Given the description of an element on the screen output the (x, y) to click on. 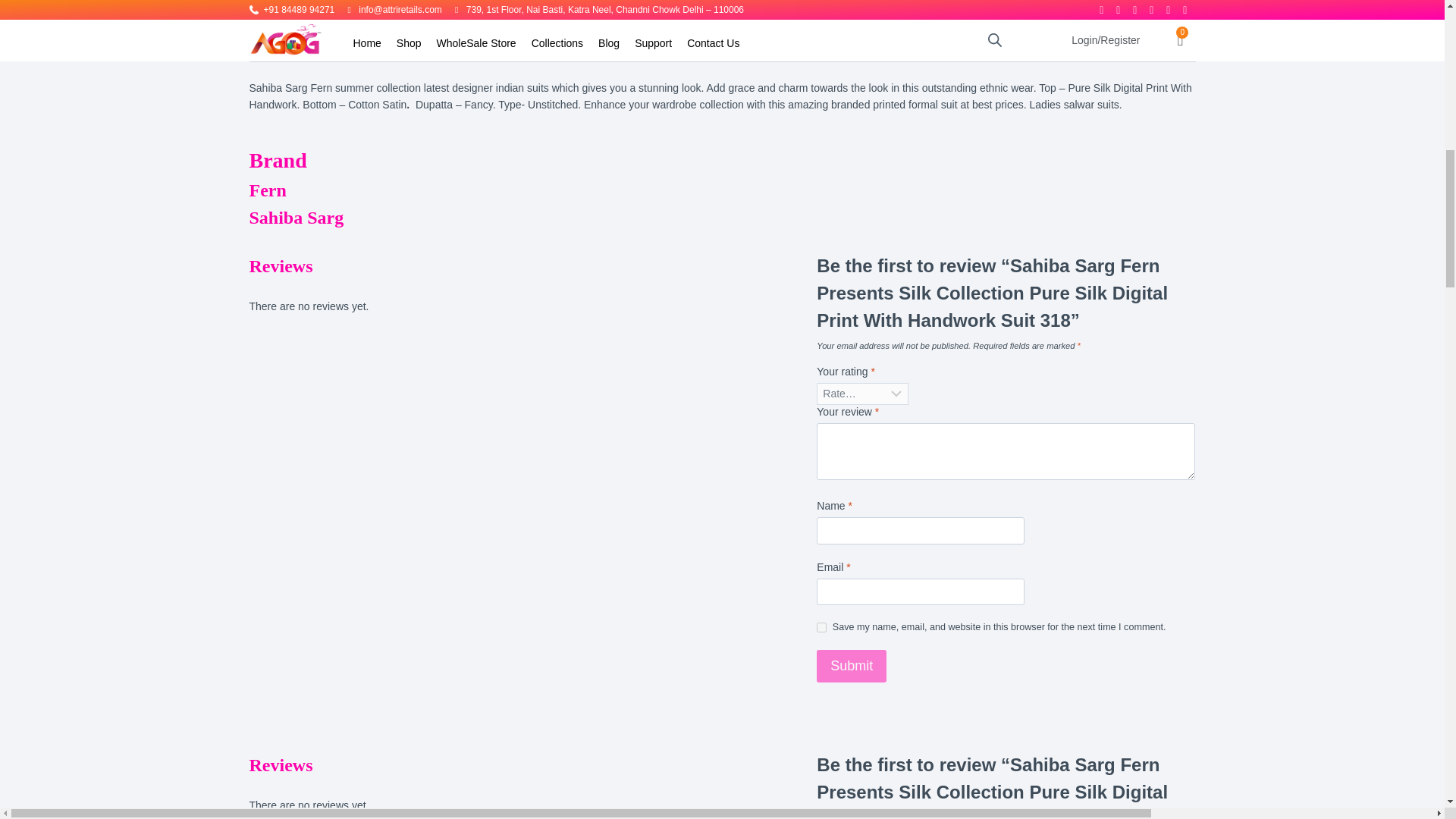
Submit (851, 666)
yes (821, 627)
